Given the description of an element on the screen output the (x, y) to click on. 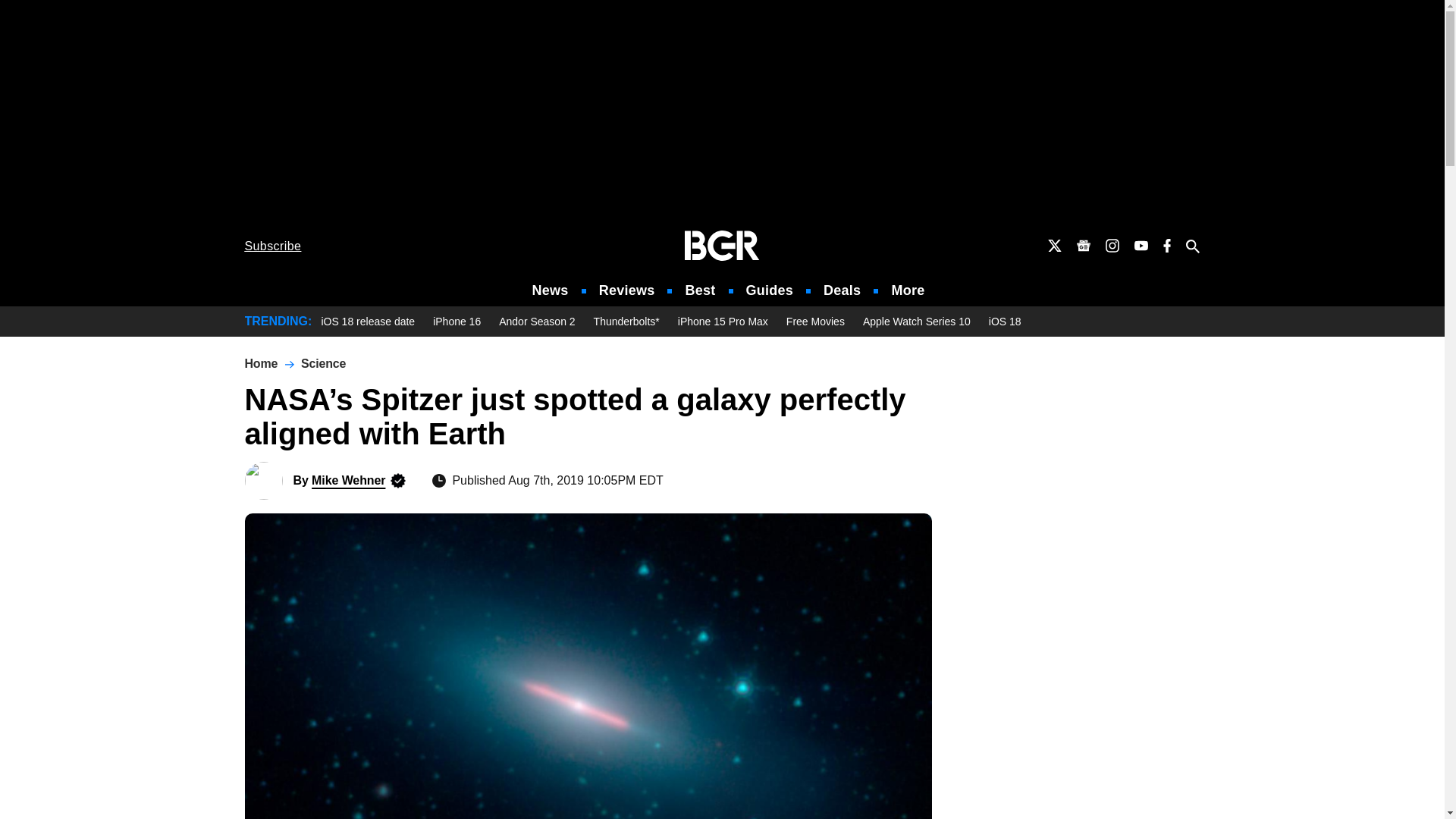
Deals (842, 290)
Reviews (626, 290)
Subscribe (272, 245)
Posts by Mike Wehner (348, 480)
Guides (769, 290)
Best (699, 290)
More (907, 290)
News (550, 290)
